Given the description of an element on the screen output the (x, y) to click on. 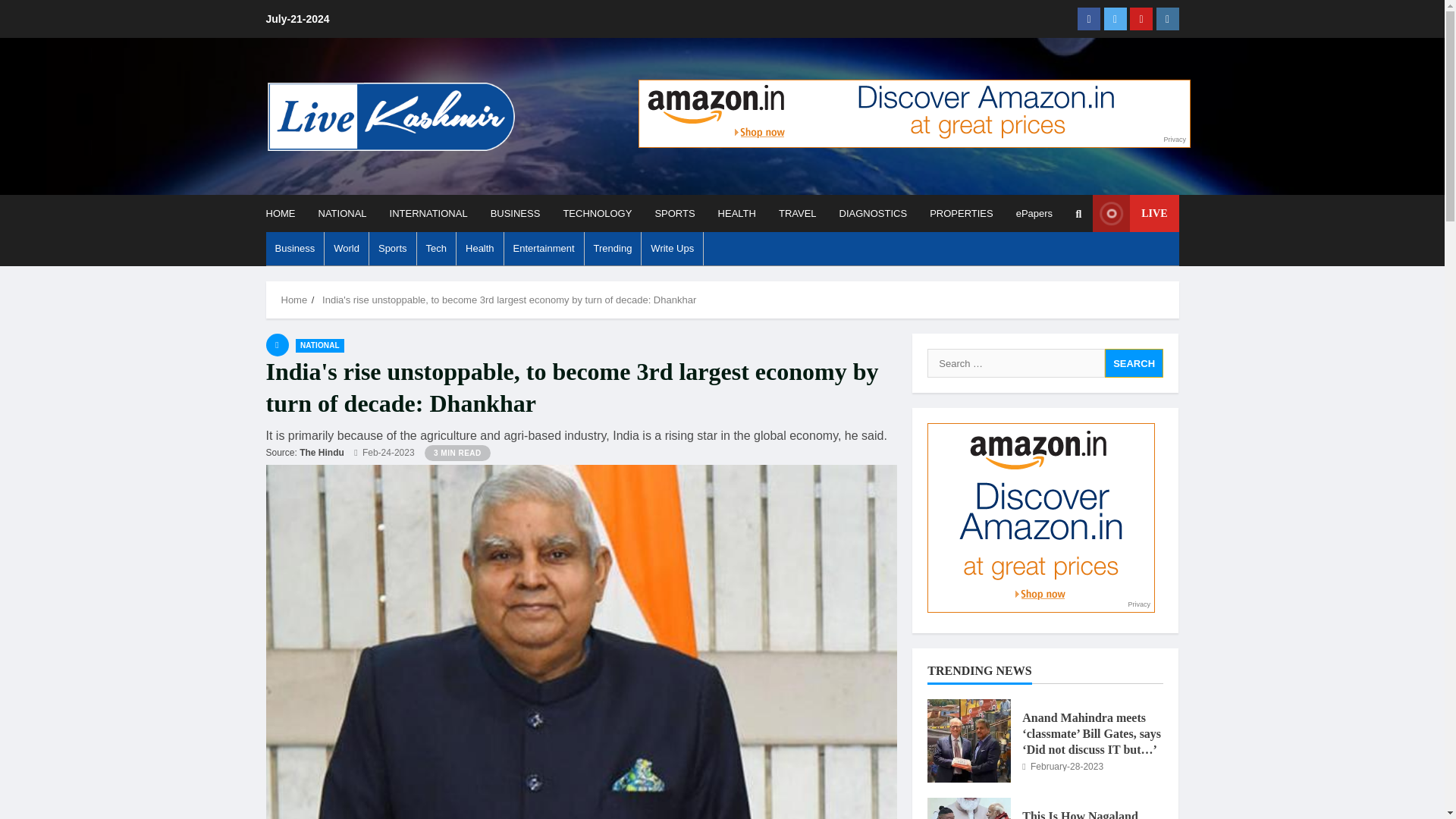
Sports (392, 248)
Twitter (1114, 18)
Business (294, 248)
TRAVEL (797, 212)
TECHNOLOGY (597, 212)
ePapers (1028, 212)
HOME (284, 212)
Write Ups (672, 248)
Search (1134, 362)
Search (1042, 265)
Search (1134, 362)
Youtube (1141, 18)
HEALTH (736, 212)
Instagram (1166, 18)
